Given the description of an element on the screen output the (x, y) to click on. 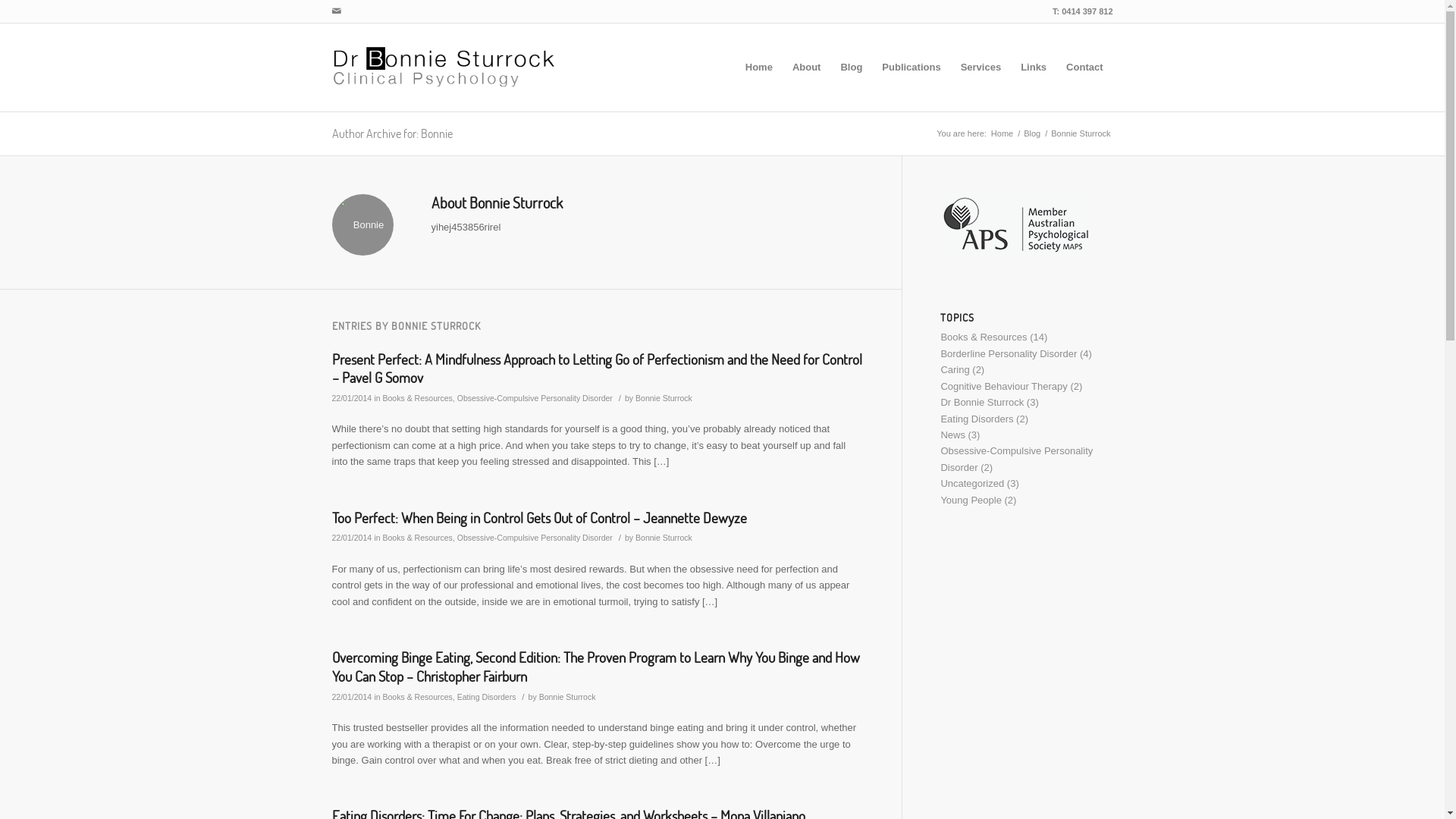
Caring Element type: text (954, 369)
News Element type: text (952, 434)
Bonnie Sturrock Element type: text (567, 696)
About Element type: text (806, 67)
Borderline Personality Disorder Element type: text (1008, 353)
Eating Disorders Element type: text (486, 696)
Mail Element type: hover (335, 11)
Books & Resources Element type: text (416, 537)
Bonnie Sturrock Element type: text (663, 537)
Blog Element type: text (851, 67)
Home Element type: text (1001, 133)
Cognitive Behaviour Therapy Element type: text (1003, 386)
Books & Resources Element type: text (416, 696)
Obsessive-Compulsive Personality Disorder Element type: text (534, 397)
Links Element type: text (1033, 67)
Dr Bonnie Sturrock Element type: text (981, 401)
Home Element type: text (758, 67)
Books & Resources Element type: text (983, 336)
Bonnie Sturrock Element type: text (663, 397)
Blog Element type: text (1031, 133)
Obsessive-Compulsive Personality Disorder Element type: text (534, 537)
Young People Element type: text (970, 499)
Obsessive-Compulsive Personality Disorder Element type: text (1016, 458)
Publications Element type: text (911, 67)
Books & Resources Element type: text (416, 397)
Uncategorized Element type: text (972, 483)
Services Element type: text (980, 67)
Contact Element type: text (1084, 67)
Eating Disorders Element type: text (976, 418)
